Given the description of an element on the screen output the (x, y) to click on. 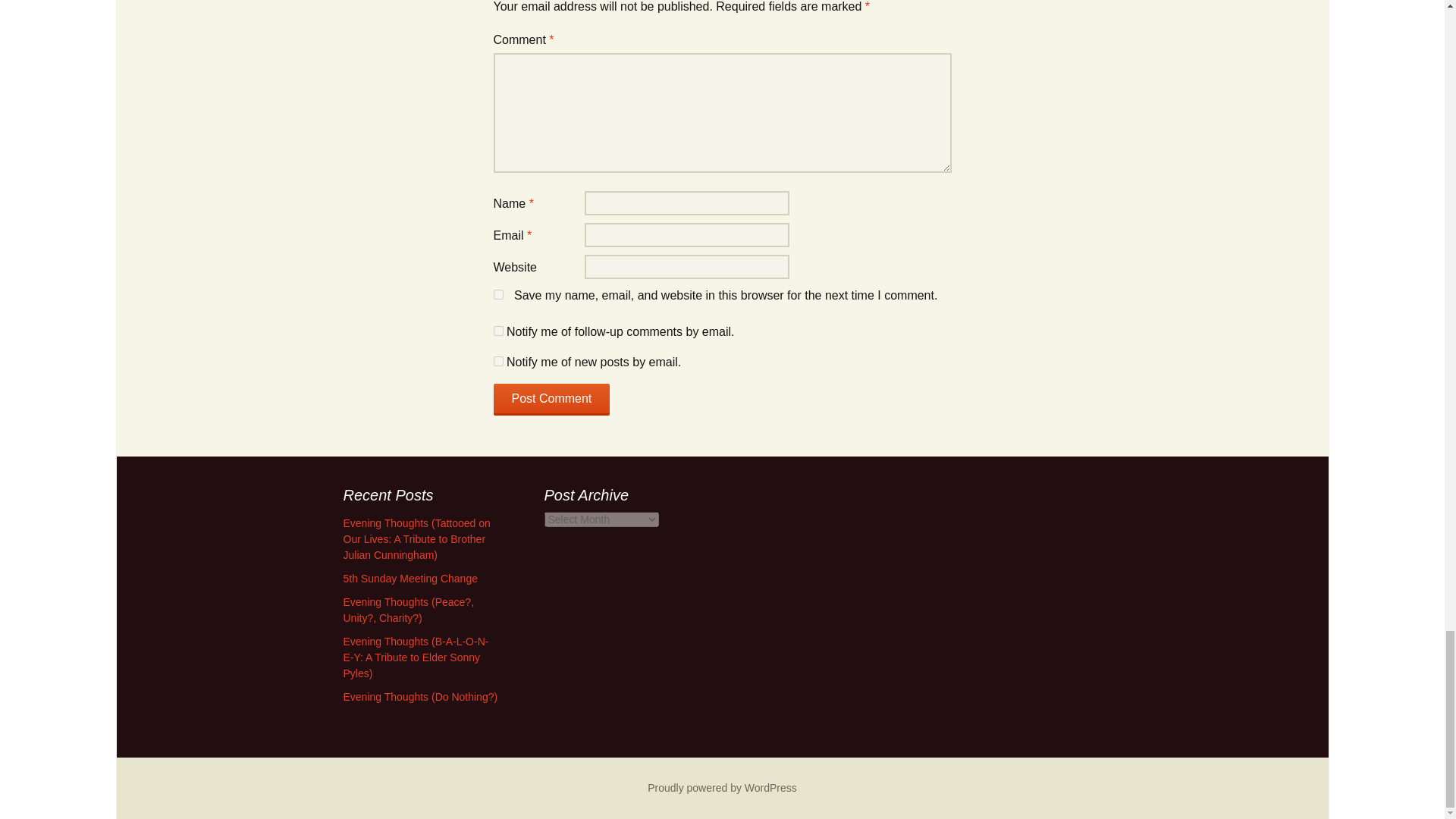
5th Sunday Meeting Change (409, 578)
Proudly powered by WordPress (721, 787)
subscribe (497, 361)
yes (497, 294)
Post Comment (551, 399)
subscribe (497, 330)
Post Comment (551, 399)
